Given the description of an element on the screen output the (x, y) to click on. 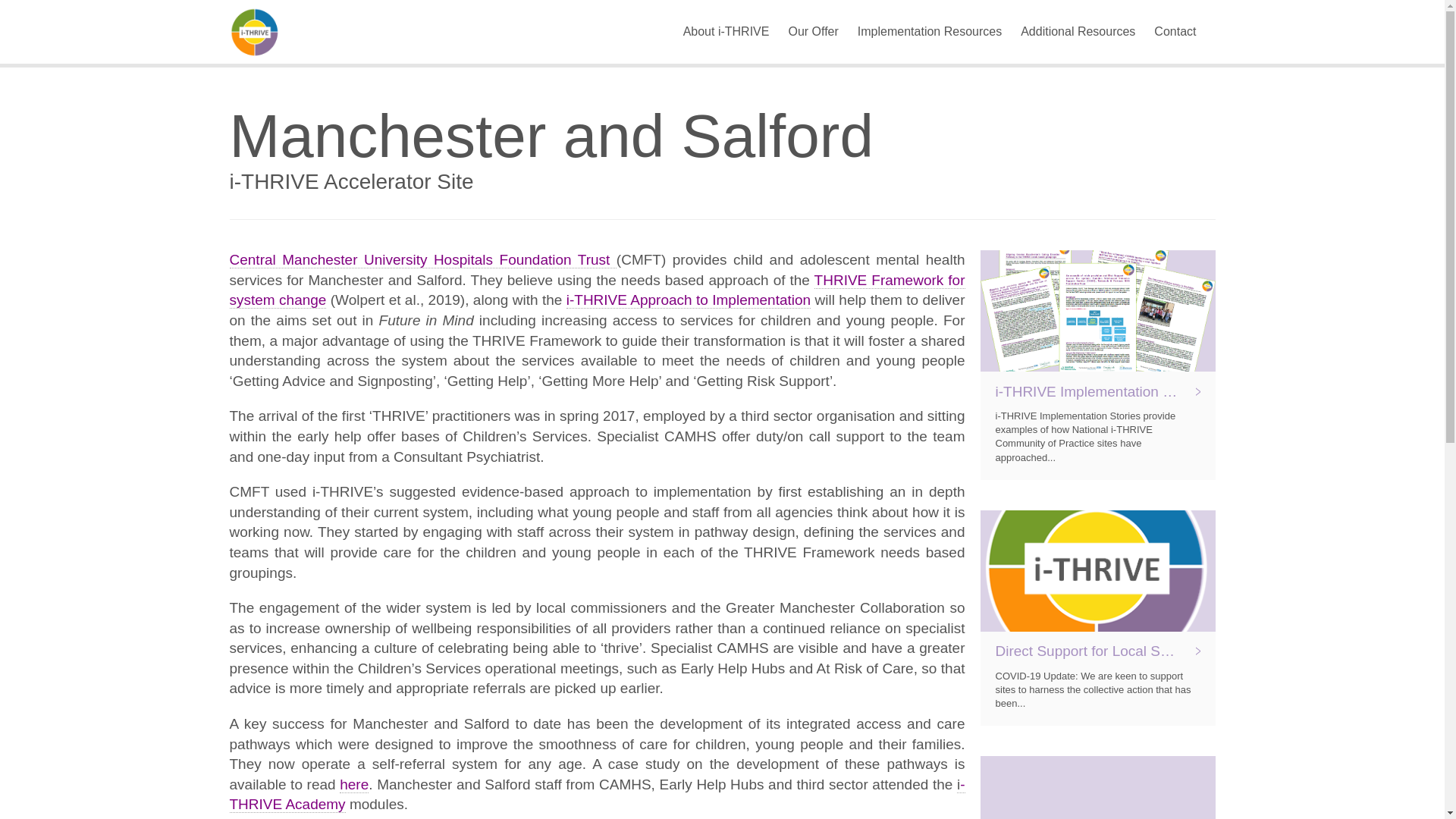
i-THRIVE Academy (595, 795)
i-THRIVE Approach to Implementation (688, 299)
Additional Resources (1077, 31)
View National i-THRIVE Community of Practice (1096, 787)
i-THRIVE (268, 32)
here (353, 784)
Implementation Resources (929, 31)
View i-THRIVE Implementation Stories (1096, 364)
THRIVE Framework for system change (595, 290)
Central Manchester University Hospitals Foundation Trust (421, 259)
View Direct Support for Local Sites (1096, 617)
About i-THRIVE (726, 31)
